Given the description of an element on the screen output the (x, y) to click on. 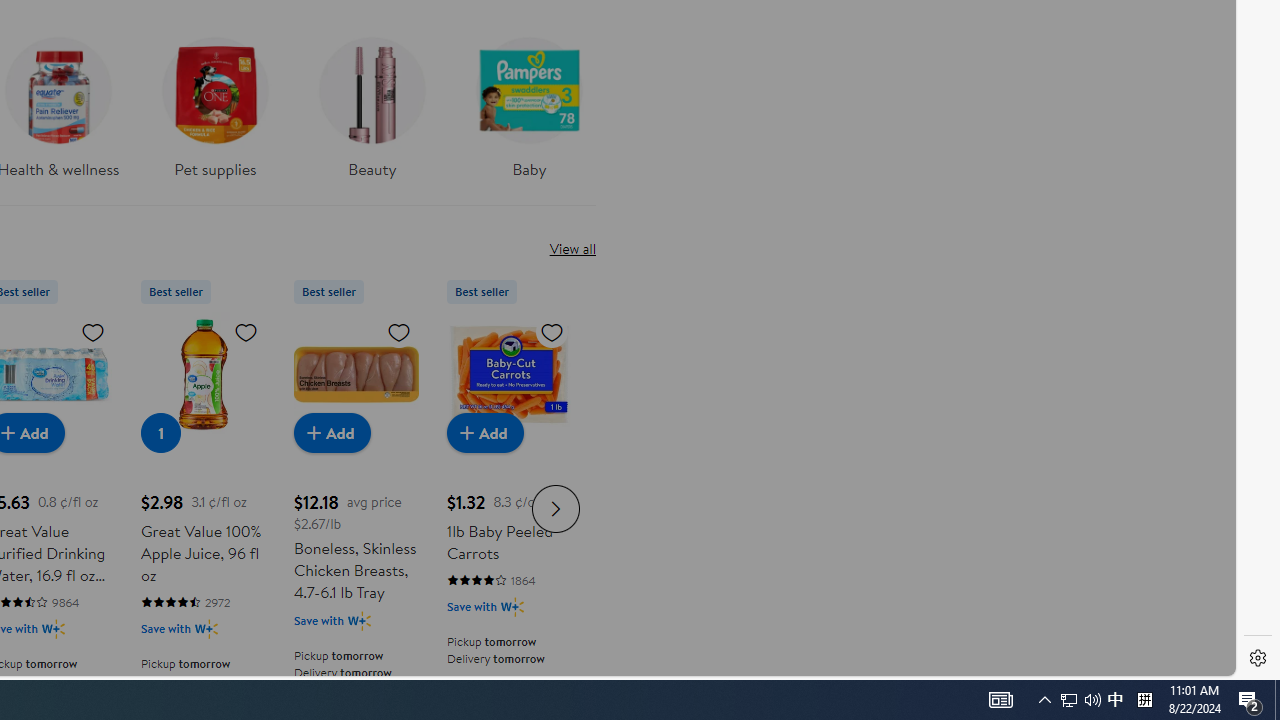
Walmart Plus (512, 606)
Baby (529, 101)
Beauty (371, 101)
Next slide for Product Carousel list (555, 507)
1 in cart, Great Value 100% Apple Juice, 96 fl oz (160, 431)
Beauty (371, 114)
Pet supplies (214, 114)
Sign in to add to Favorites list, 1lb Baby Peeled Carrots (552, 331)
View all (572, 248)
Boneless, Skinless Chicken Breasts, 4.7-6.1 lb Tray (356, 374)
Baby (529, 114)
